Given the description of an element on the screen output the (x, y) to click on. 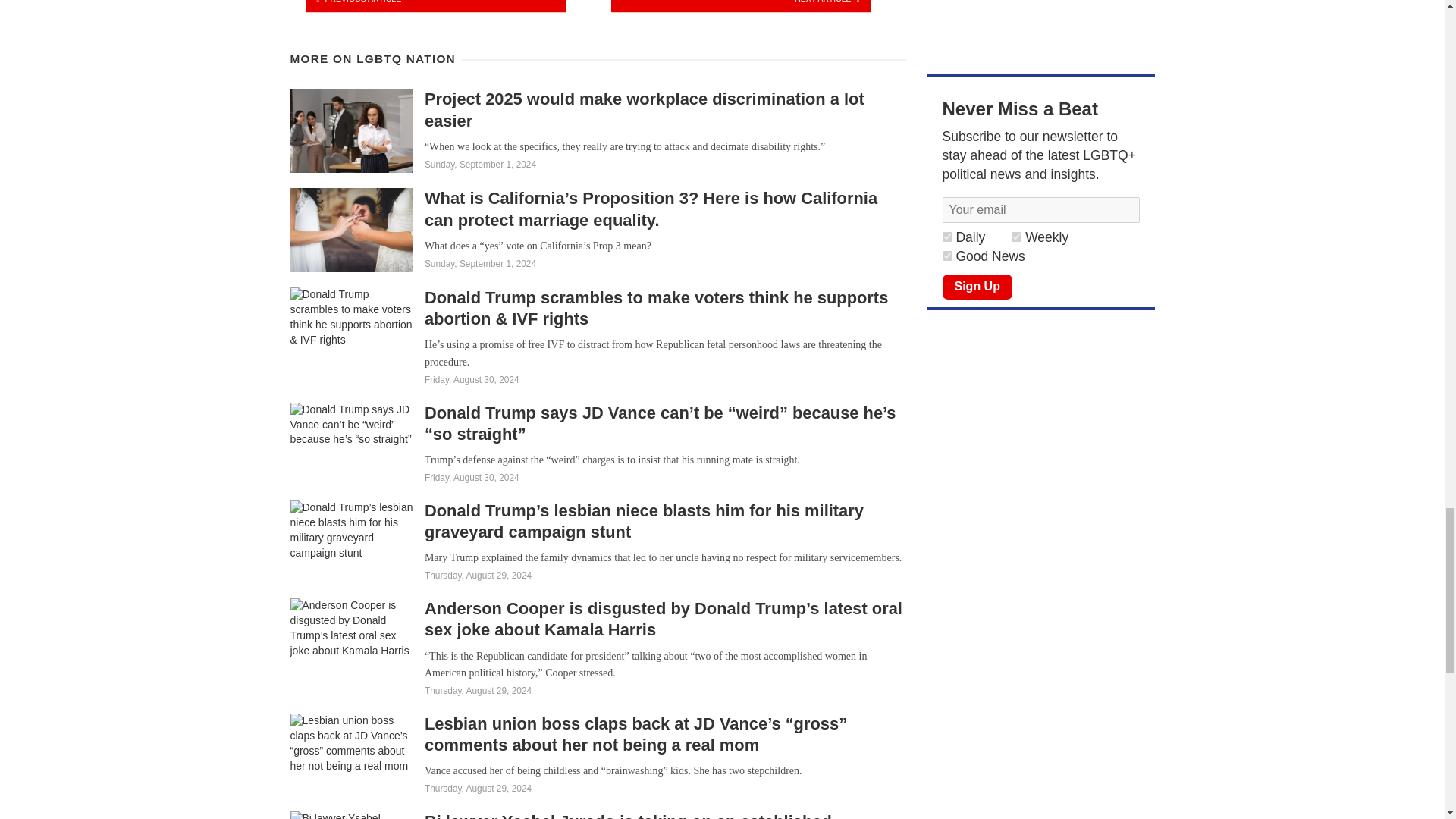
1920883 (947, 255)
1920885 (947, 236)
Sign Up (976, 287)
1920884 (1016, 236)
